Given the description of an element on the screen output the (x, y) to click on. 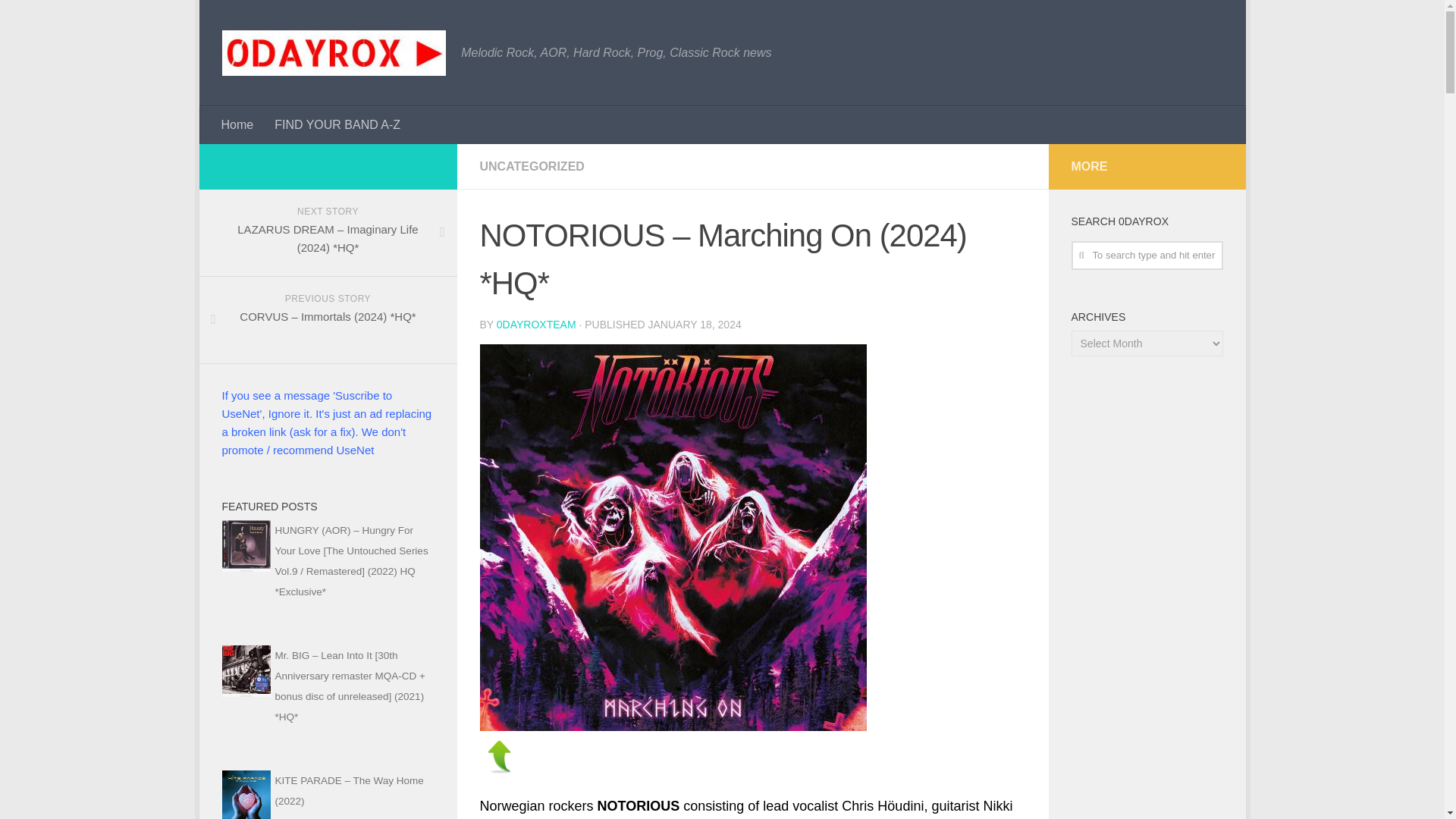
Home (237, 125)
FIND YOUR BAND A-Z (336, 125)
0DAYROXTEAM (536, 324)
To search type and hit enter (1146, 255)
UNCATEGORIZED (531, 165)
Posts by 0dayroxTeam (536, 324)
To search type and hit enter (1146, 255)
